Given the description of an element on the screen output the (x, y) to click on. 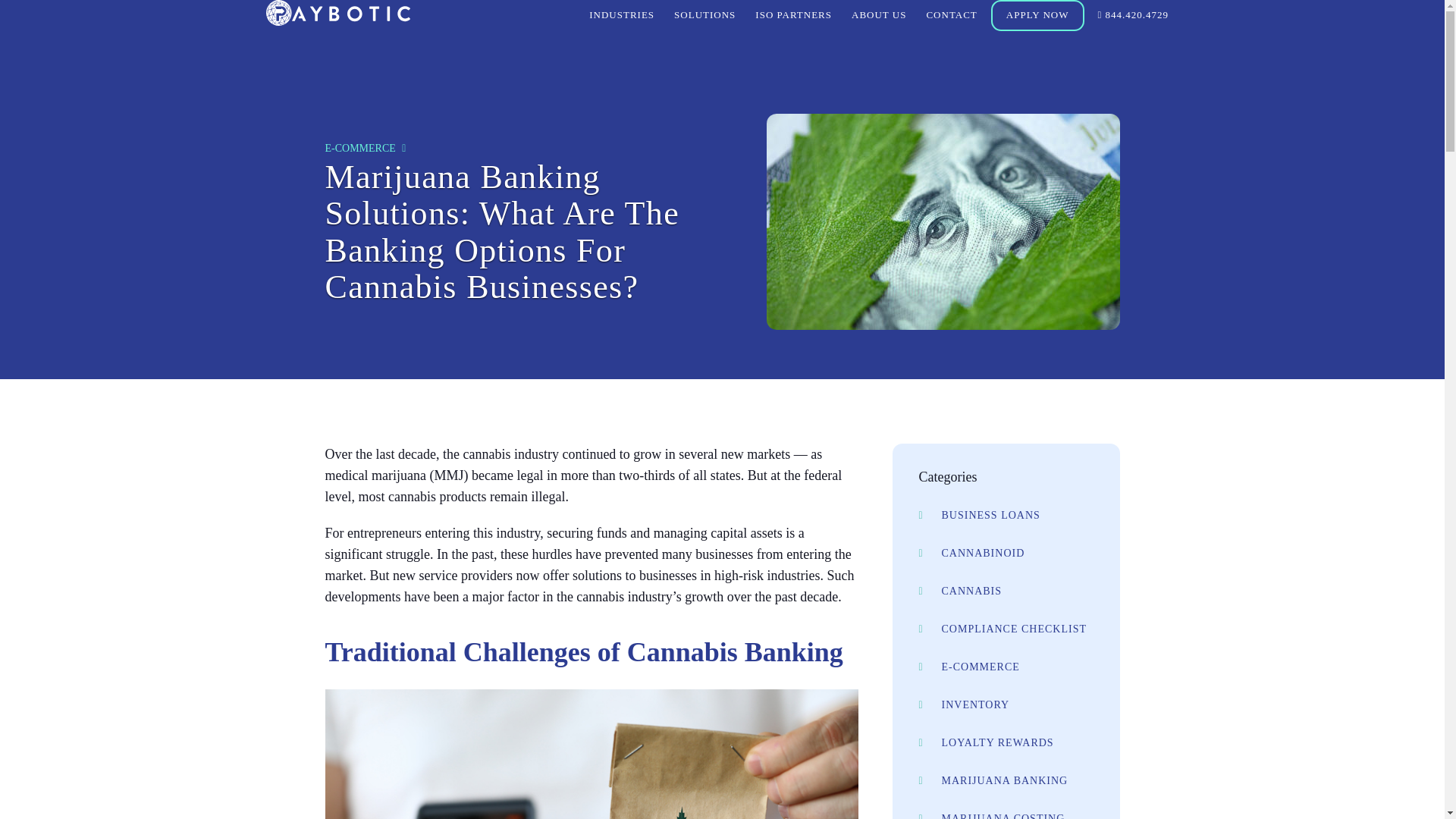
ABOUT US (879, 16)
E-COMMERCE (359, 147)
APPLY NOW (1037, 15)
844.420.4729 (1133, 16)
CONTACT (951, 16)
ISO PARTNERS (794, 16)
SOLUTIONS (704, 16)
INDUSTRIES (621, 16)
